Given the description of an element on the screen output the (x, y) to click on. 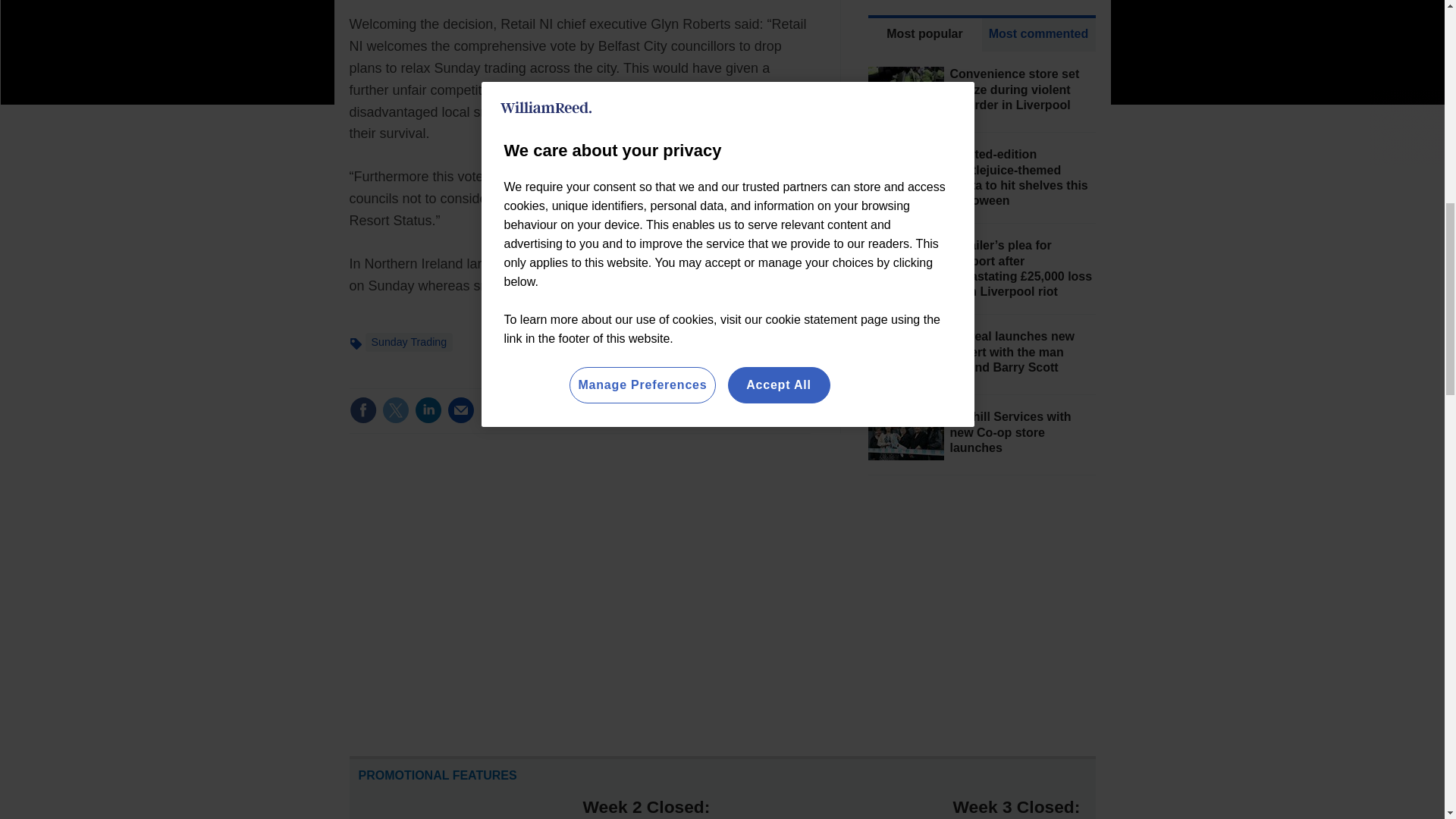
Share this on Facebook (362, 410)
Share this on Twitter (395, 410)
Share this on Linked in (427, 410)
3rd party ad content (980, 606)
No comments (759, 418)
Email this article (460, 410)
